Given the description of an element on the screen output the (x, y) to click on. 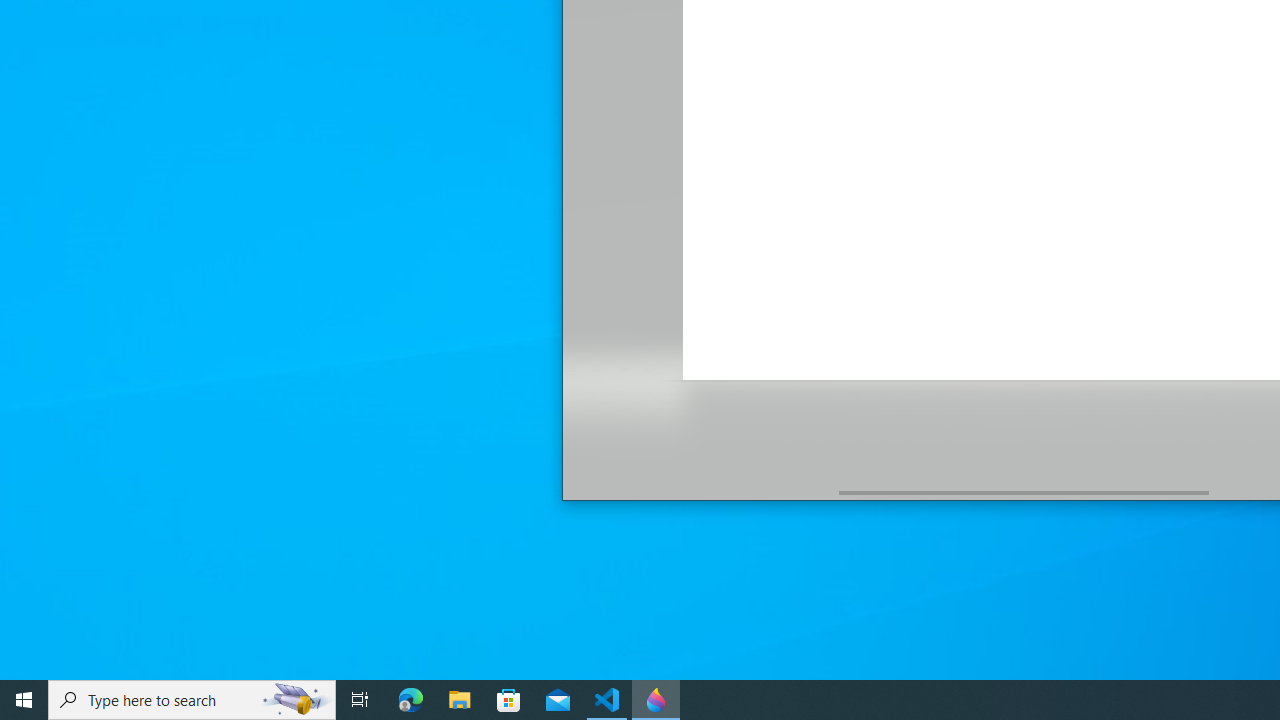
Paint 3D - 1 running window (656, 699)
Horizontal Large Decrease (700, 492)
